Given the description of an element on the screen output the (x, y) to click on. 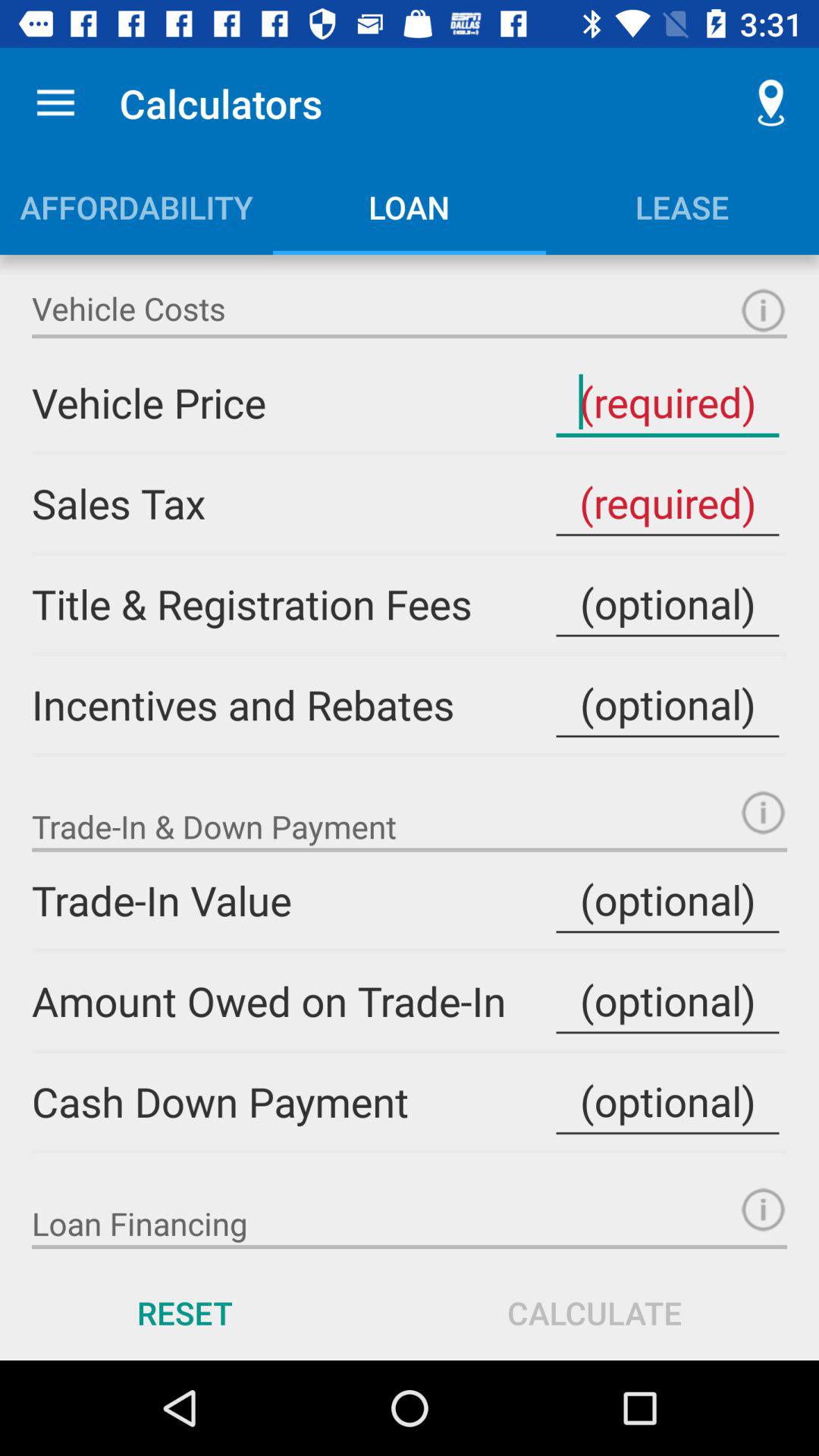
enter inventives and rebates (667, 704)
